Given the description of an element on the screen output the (x, y) to click on. 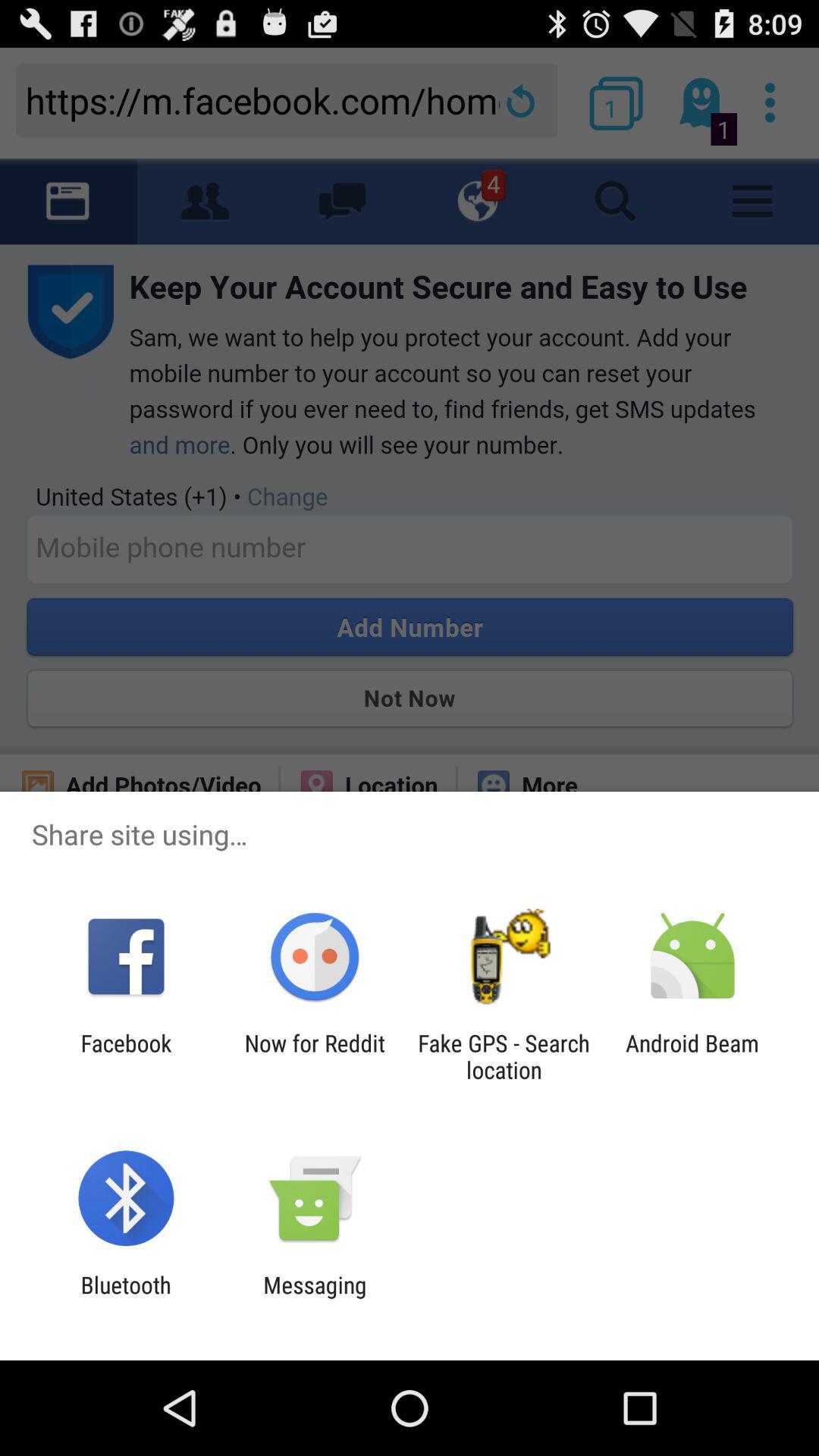
turn off item at the bottom right corner (692, 1056)
